Given the description of an element on the screen output the (x, y) to click on. 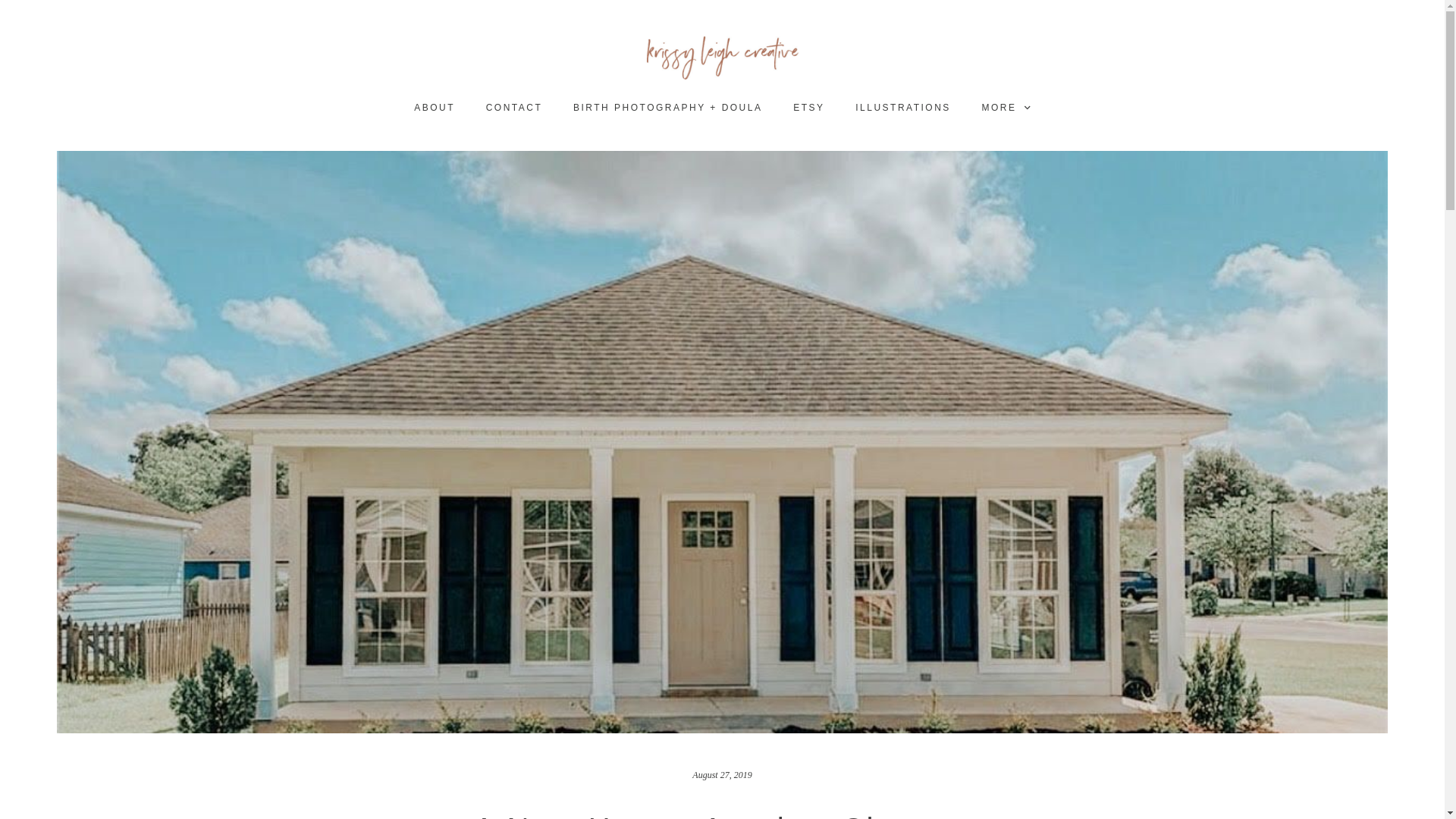
CONTACT (513, 107)
MORE (1005, 107)
ETSY (808, 107)
ILLUSTRATIONS (903, 107)
ABOUT (435, 107)
